Given the description of an element on the screen output the (x, y) to click on. 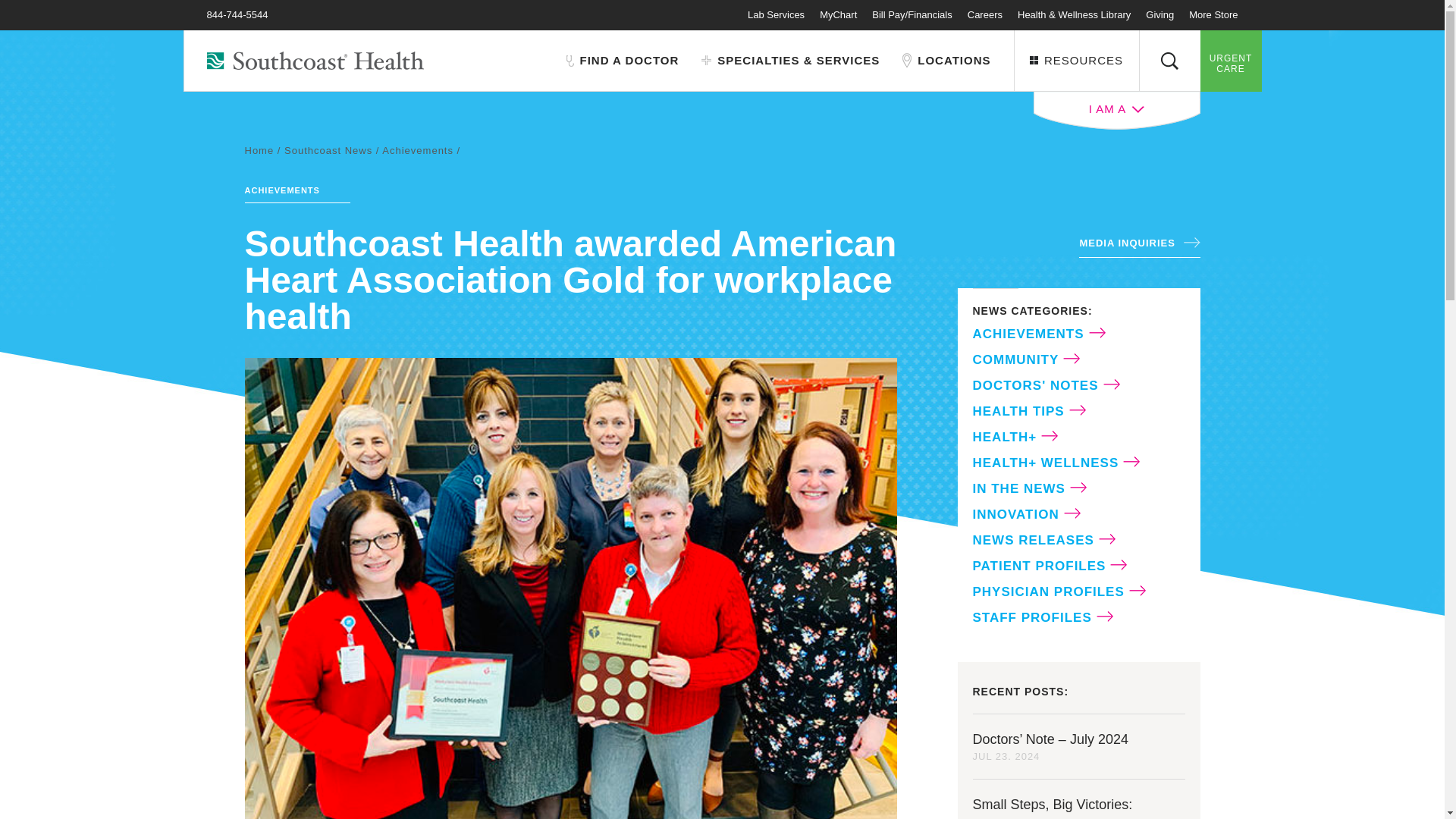
FIND A DOCTOR (622, 60)
URGENT CARE (1229, 60)
RESOURCES (1075, 60)
MyChart (838, 14)
LOCATIONS (946, 60)
Search (1168, 60)
Giving (1159, 14)
More Store (1213, 14)
I AM A (1115, 110)
Careers (985, 14)
Lab Services (776, 14)
